Given the description of an element on the screen output the (x, y) to click on. 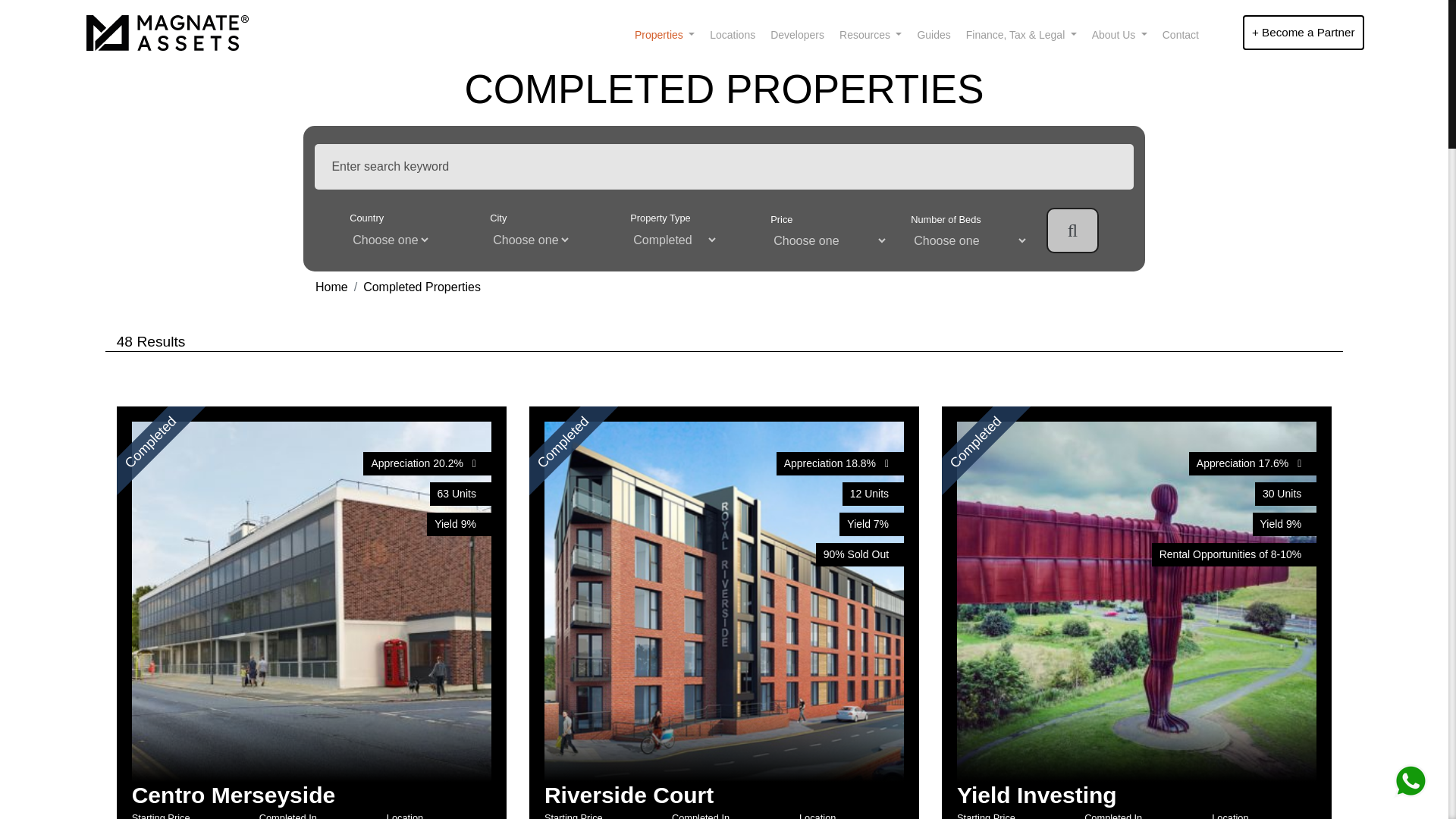
Developers (796, 34)
Resources (869, 34)
Contact (1180, 34)
Locations (731, 34)
Properties (664, 34)
Home (331, 286)
About Us (1119, 34)
